Given the description of an element on the screen output the (x, y) to click on. 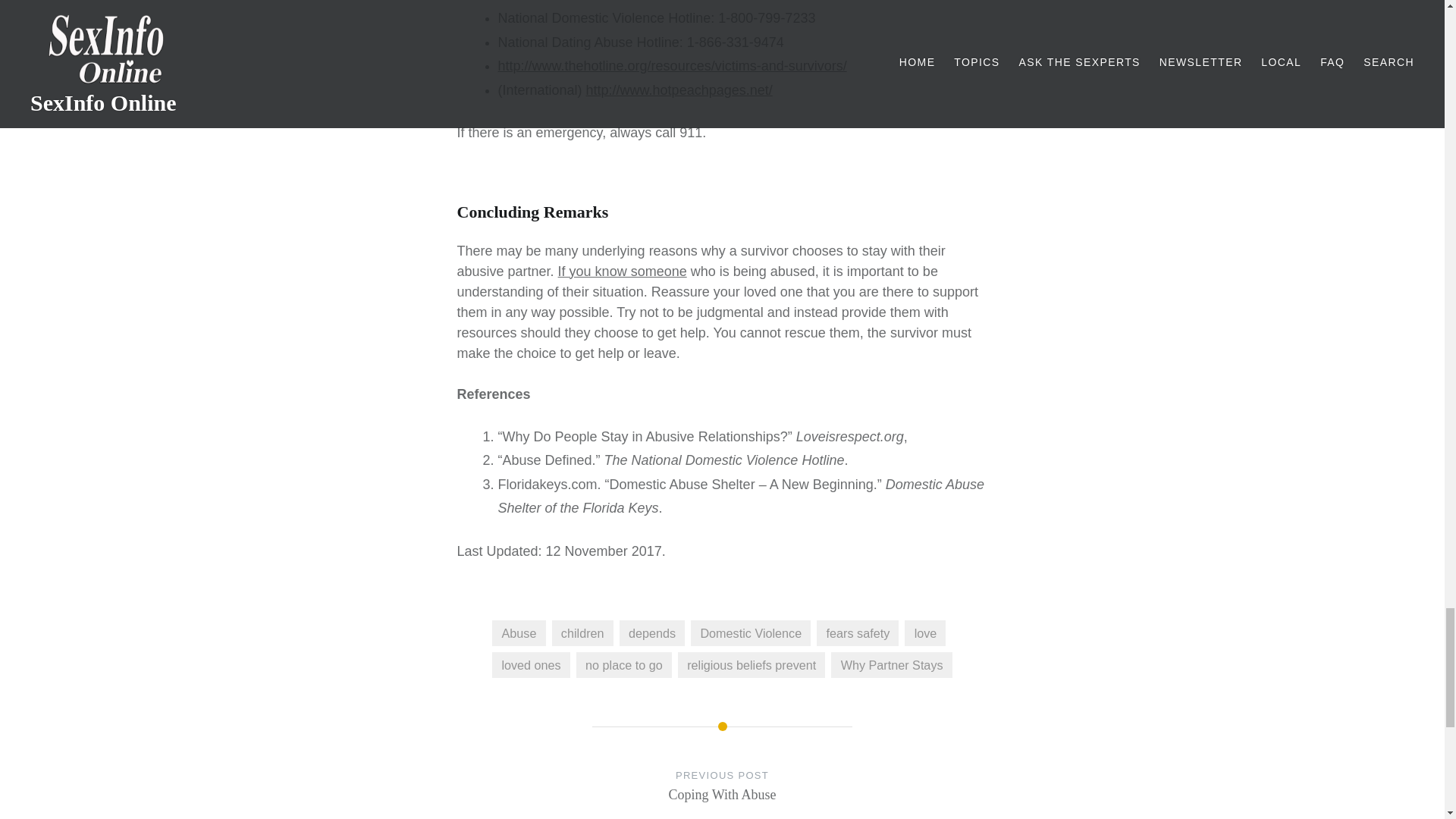
depends (652, 632)
Domestic Violence (750, 632)
Abuse (518, 632)
fears safety (857, 632)
If you know someone (622, 271)
children (581, 632)
